Given the description of an element on the screen output the (x, y) to click on. 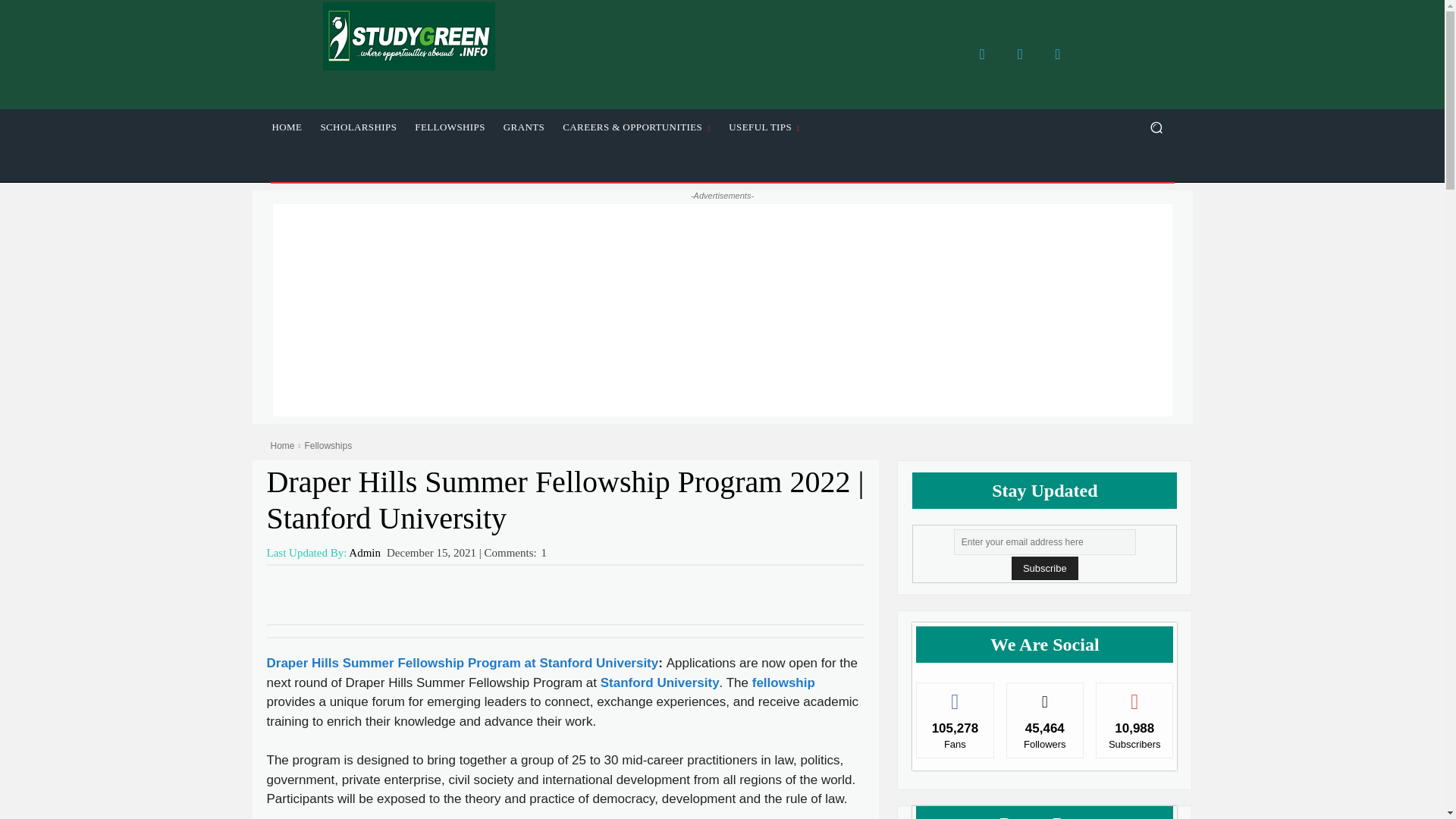
Twitter (1019, 54)
SCHOLARSHIPS (358, 126)
Telegram (1057, 54)
USEFUL TIPS (764, 126)
Fellowships (328, 445)
GRANTS (524, 126)
FELLOWSHIPS (450, 126)
HOME (286, 126)
Home (281, 445)
